Given the description of an element on the screen output the (x, y) to click on. 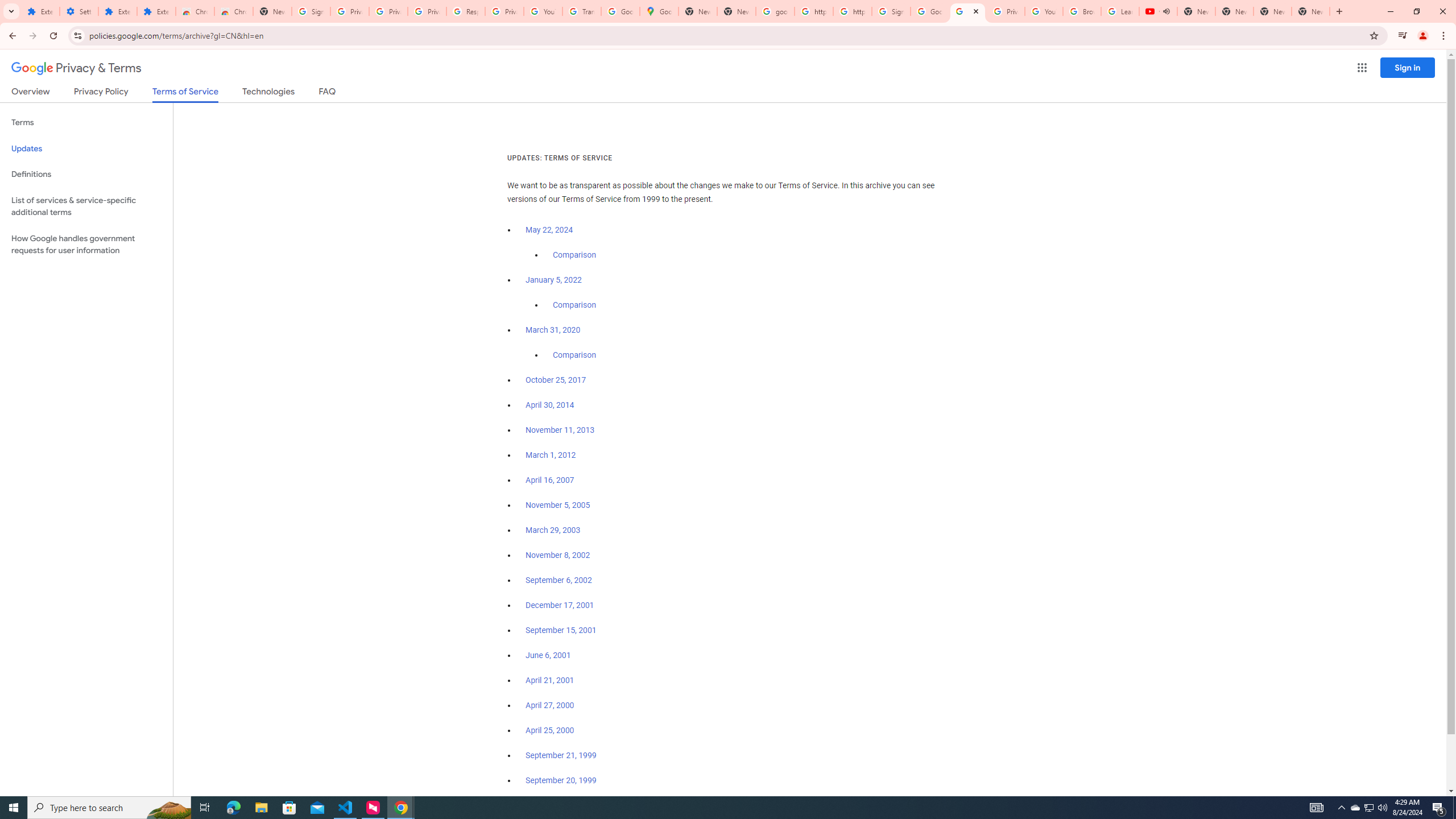
September 21, 1999 (560, 755)
September 15, 2001 (560, 629)
Control your music, videos, and more (1402, 35)
Comparison (574, 355)
